Given the description of an element on the screen output the (x, y) to click on. 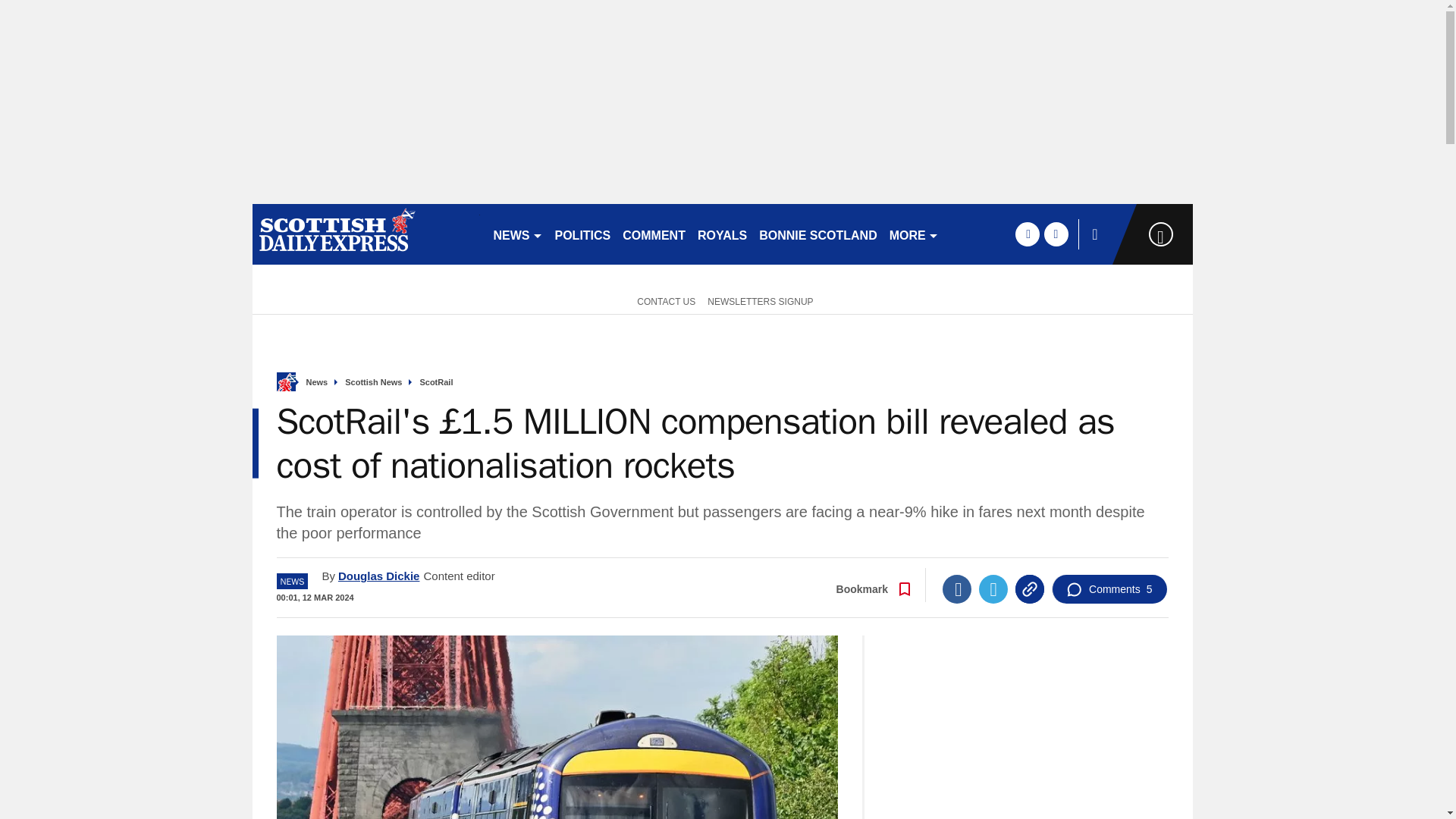
COMMENT (653, 233)
CONTACT US (662, 300)
twitter (1055, 233)
Facebook (956, 588)
ROYALS (721, 233)
NEWSLETTERS SIGNUP (759, 300)
News (317, 382)
BONNIE SCOTLAND (817, 233)
facebook (1026, 233)
MORE (913, 233)
